Given the description of an element on the screen output the (x, y) to click on. 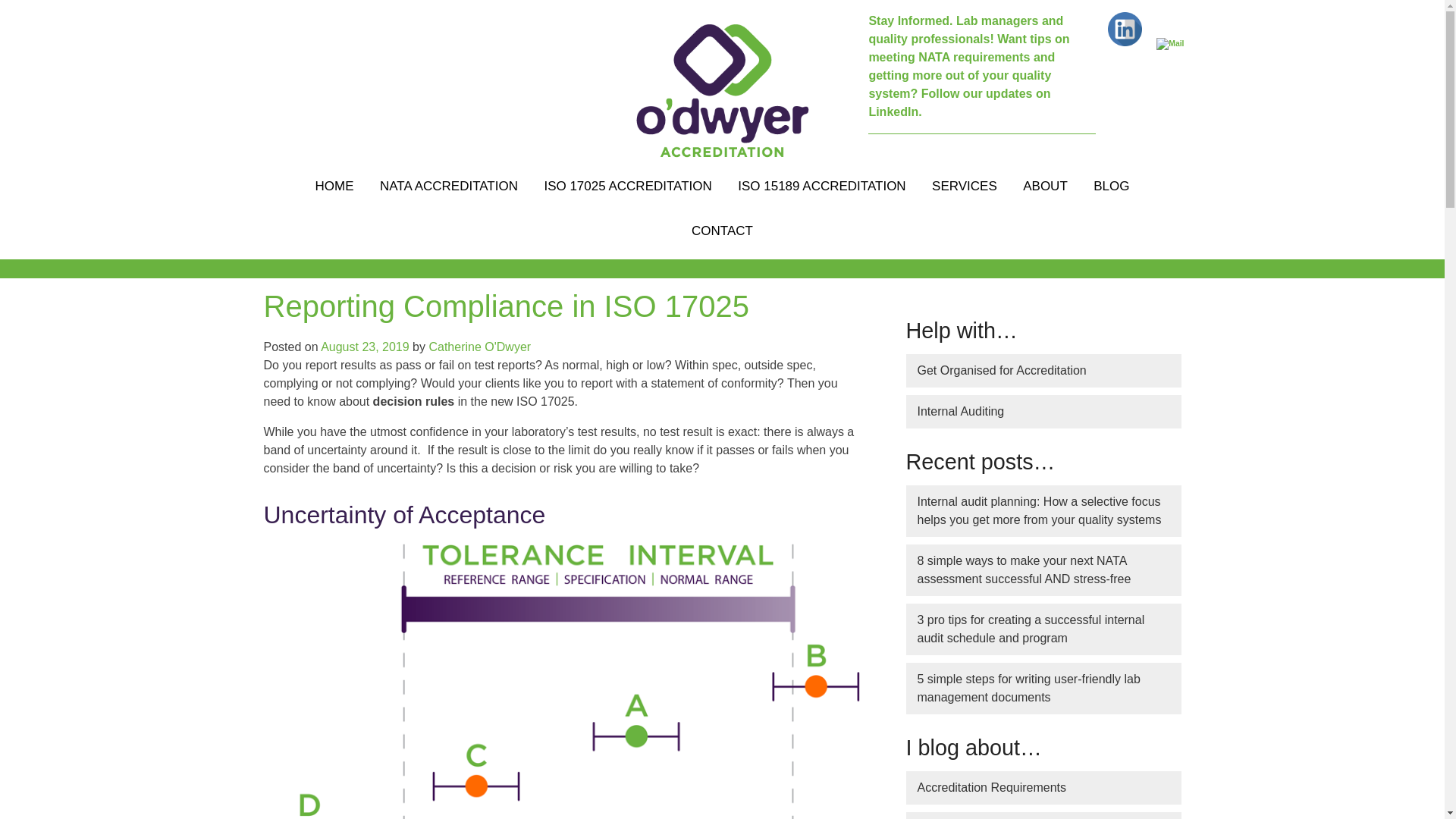
NATA ACCREDITATION (449, 186)
BLOG (1111, 186)
August 23, 2019 (364, 346)
CONTACT (721, 231)
Mail (1169, 43)
ABOUT (1045, 186)
SERVICES (964, 186)
Catherine O'Dwyer (479, 346)
HOME (334, 186)
Linkedin (1124, 28)
ISO 17025 ACCREDITATION (627, 186)
ISO 15189 ACCREDITATION (821, 186)
